Given the description of an element on the screen output the (x, y) to click on. 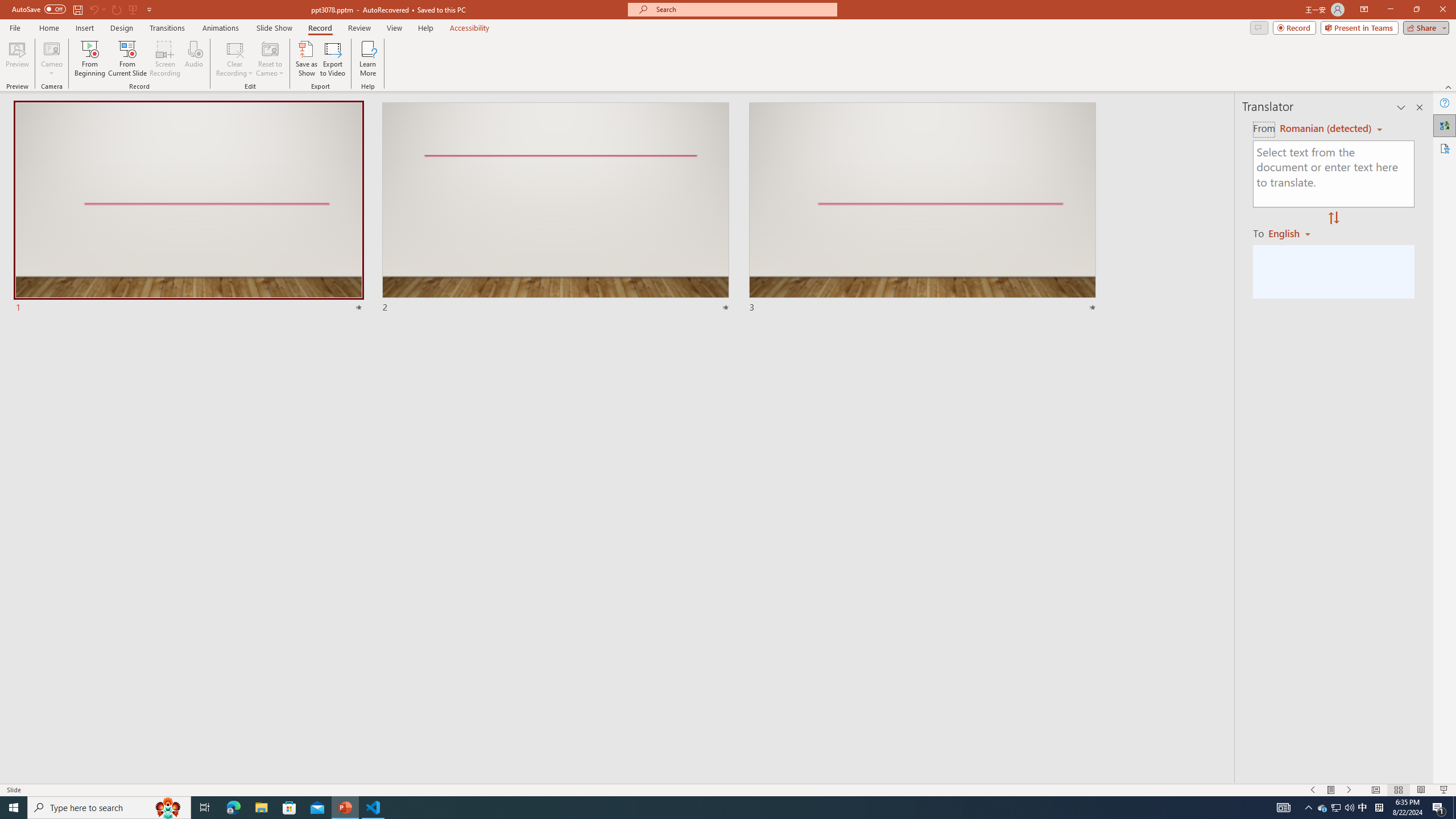
From Current Slide... (127, 58)
Slide Show Previous On (1313, 790)
Screen Recording (165, 58)
